Given the description of an element on the screen output the (x, y) to click on. 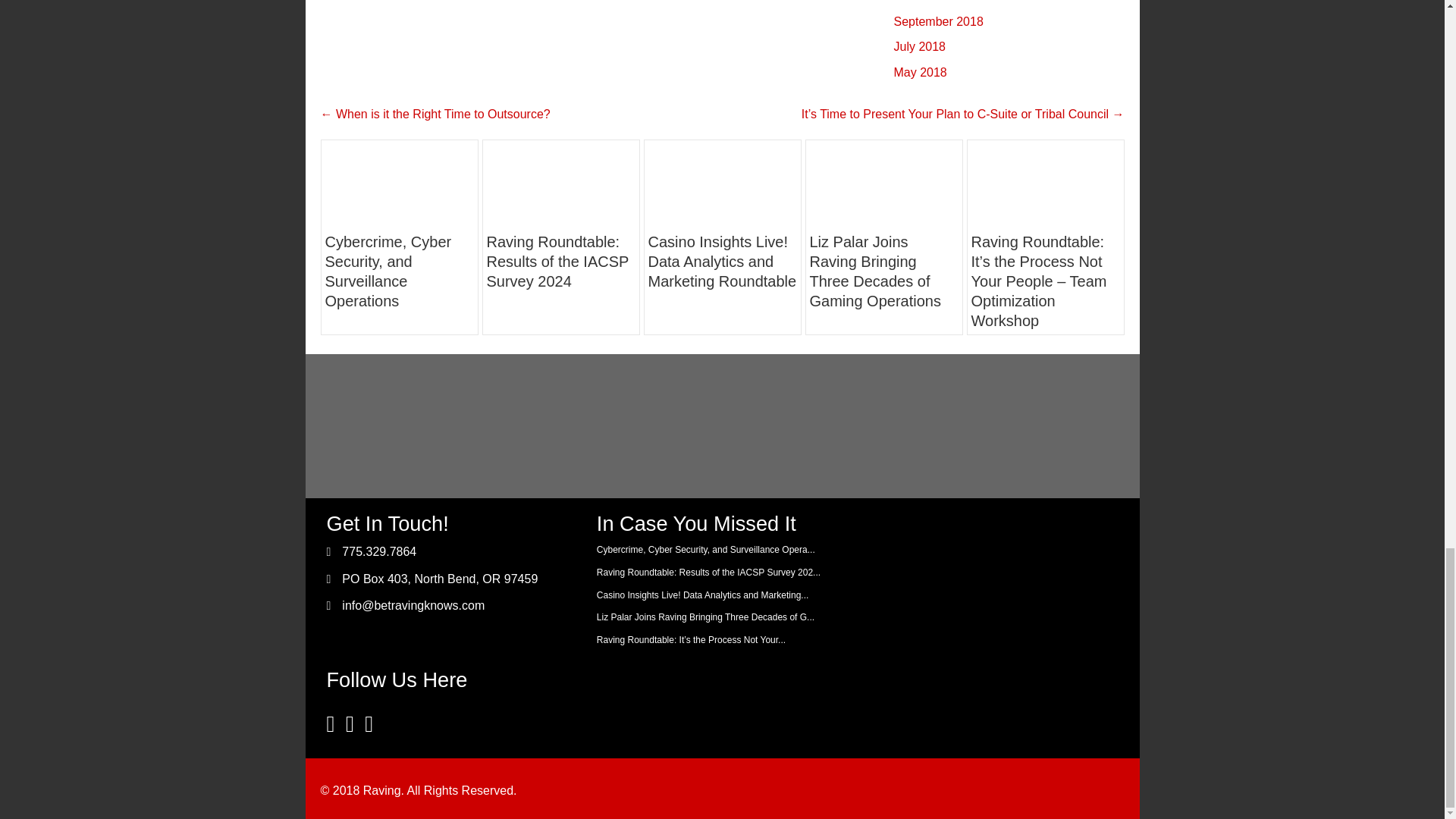
Cybercrime, Cyber Security, and Surveillance Operations (399, 182)
nb3f-logo (654, 425)
Raving Roundtable: Results of the IACSP Survey 2024 (560, 182)
OIGA-Logo-bc-white (380, 425)
Cybercrime, Cyber Security, and Surveillance Operations (387, 271)
wiga-logo-2020-cropped (927, 425)
NIGA-logo-footer (517, 426)
Raving Roundtable: Results of the IACSP Survey 2024 (557, 261)
